Given the description of an element on the screen output the (x, y) to click on. 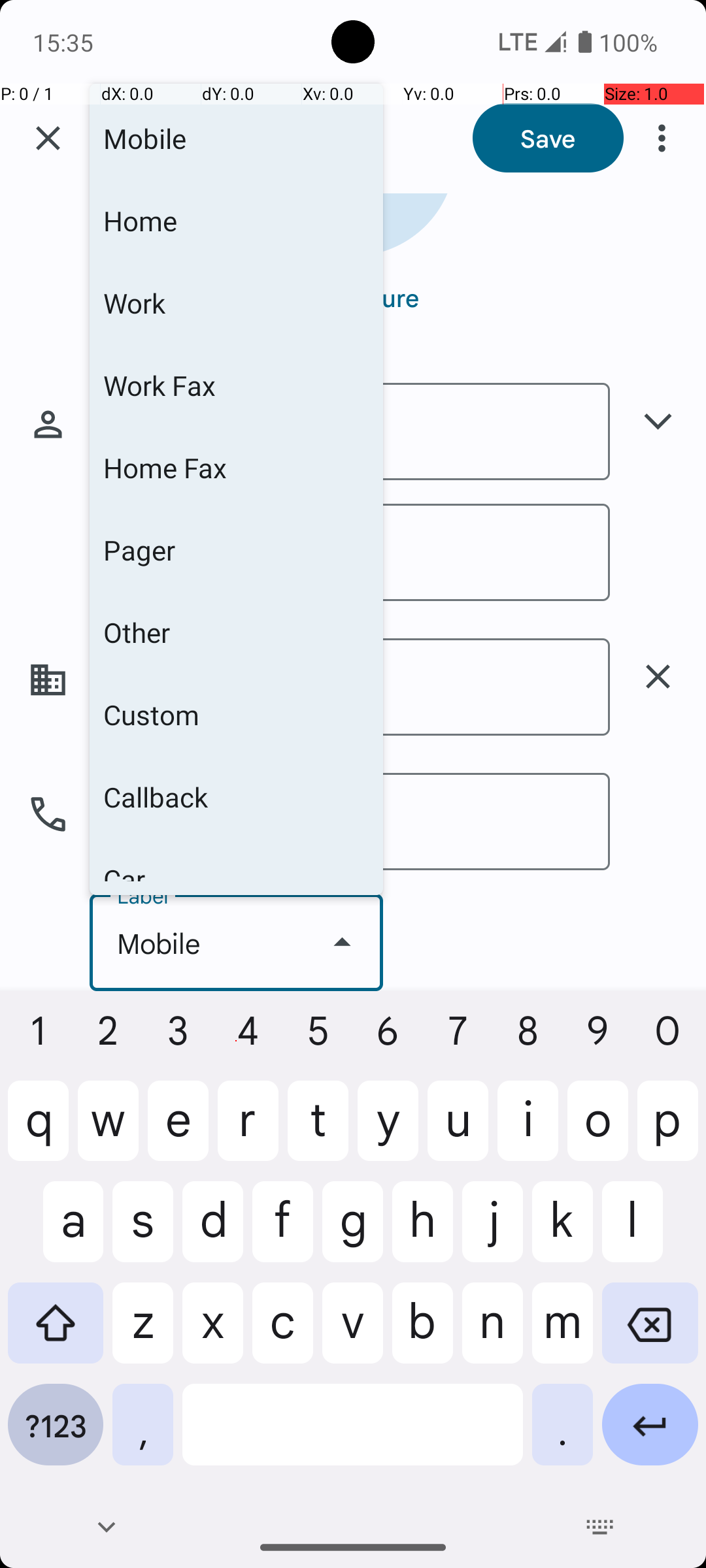
Edit contact Element type: android.widget.TextView (205, 138)
Add picture Element type: android.widget.Button (352, 297)
Fangzhi Element type: android.widget.EditText (349, 431)
Xu Element type: android.widget.EditText (349, 552)
Tech Innovations Inc. Element type: android.widget.EditText (349, 686)
Delete Organization Element type: android.widget.FrameLayout (657, 676)
delete Element type: android.widget.ImageView (657, 676)
Work Fax Element type: android.widget.CheckedTextView (236, 385)
Home Fax Element type: android.widget.CheckedTextView (236, 467)
Pager Element type: android.widget.CheckedTextView (236, 549)
Custom Element type: android.widget.CheckedTextView (236, 714)
Callback Element type: android.widget.CheckedTextView (236, 796)
Car Element type: android.widget.CheckedTextView (236, 859)
